Given the description of an element on the screen output the (x, y) to click on. 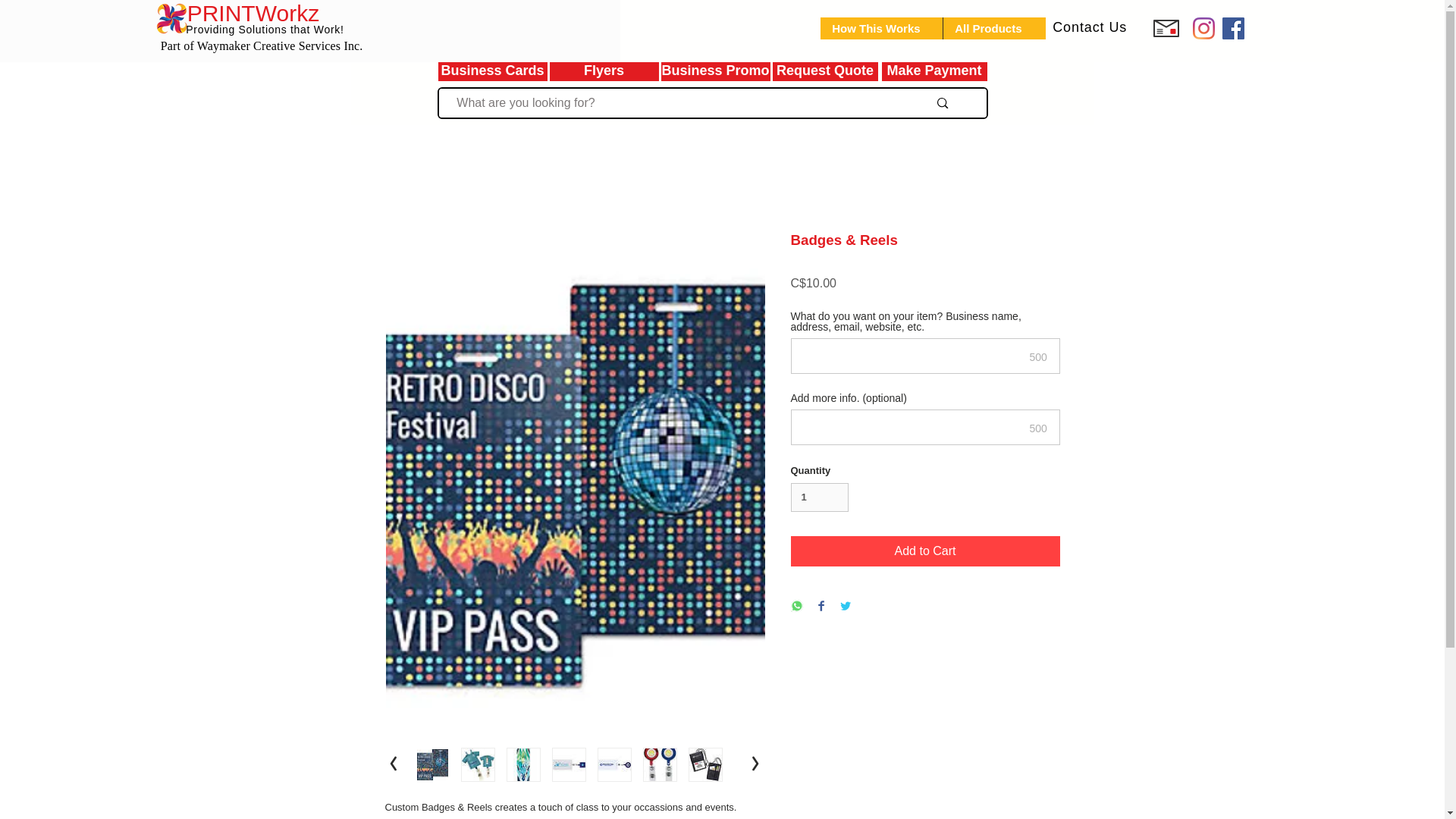
Request Quote (825, 70)
Add to Cart (924, 551)
How This Works (881, 28)
1 (818, 497)
All Products (993, 28)
Business Promo (714, 70)
Business Cards (491, 70)
Make Payment (934, 70)
PRINTWorkz (252, 14)
Contact Us (1089, 28)
Flyers (603, 70)
